Given the description of an element on the screen output the (x, y) to click on. 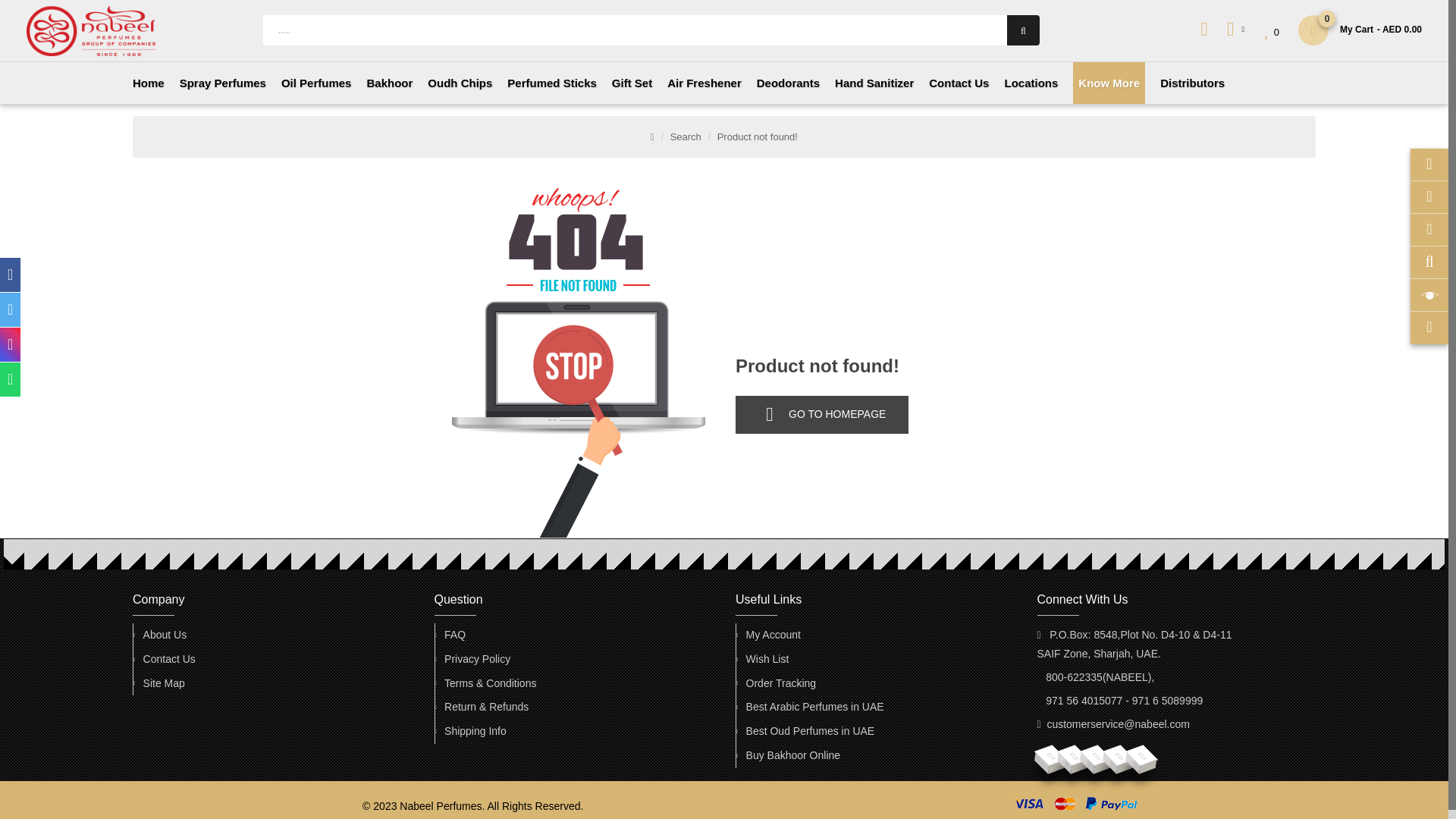
Order Tracking (780, 683)
Hand Sanitizer (874, 83)
Deodorants (788, 83)
0 (1272, 31)
My Account (772, 634)
Gift Set (631, 83)
Oudh Chips (460, 83)
Distributors (1192, 83)
Product not found! (757, 136)
Site Map (163, 683)
Privacy Policy (477, 659)
Go to homepage (821, 414)
Air Freshener (703, 83)
Help Support (454, 634)
